Given the description of an element on the screen output the (x, y) to click on. 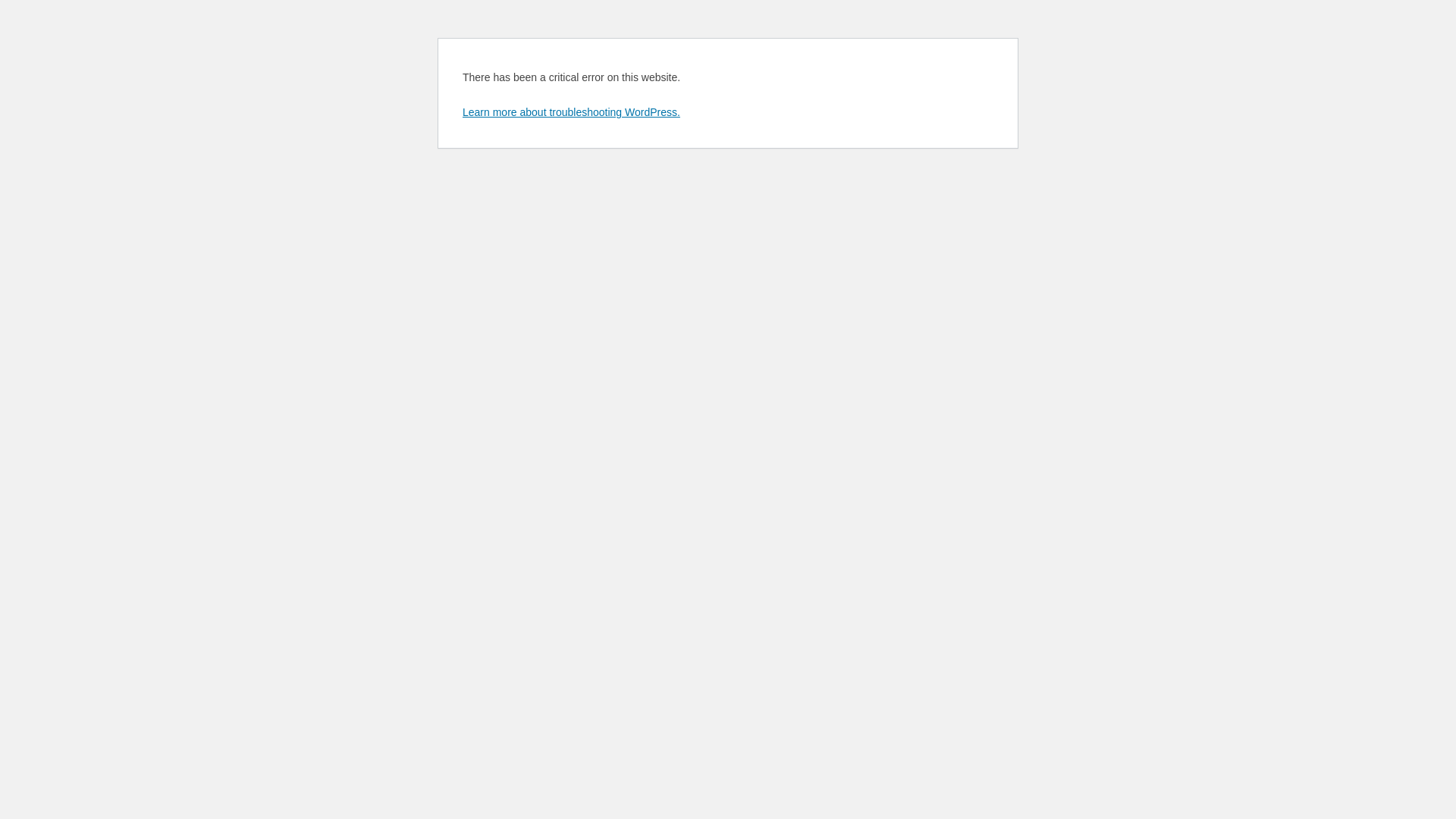
Learn more about troubleshooting WordPress. Element type: text (571, 112)
